Given the description of an element on the screen output the (x, y) to click on. 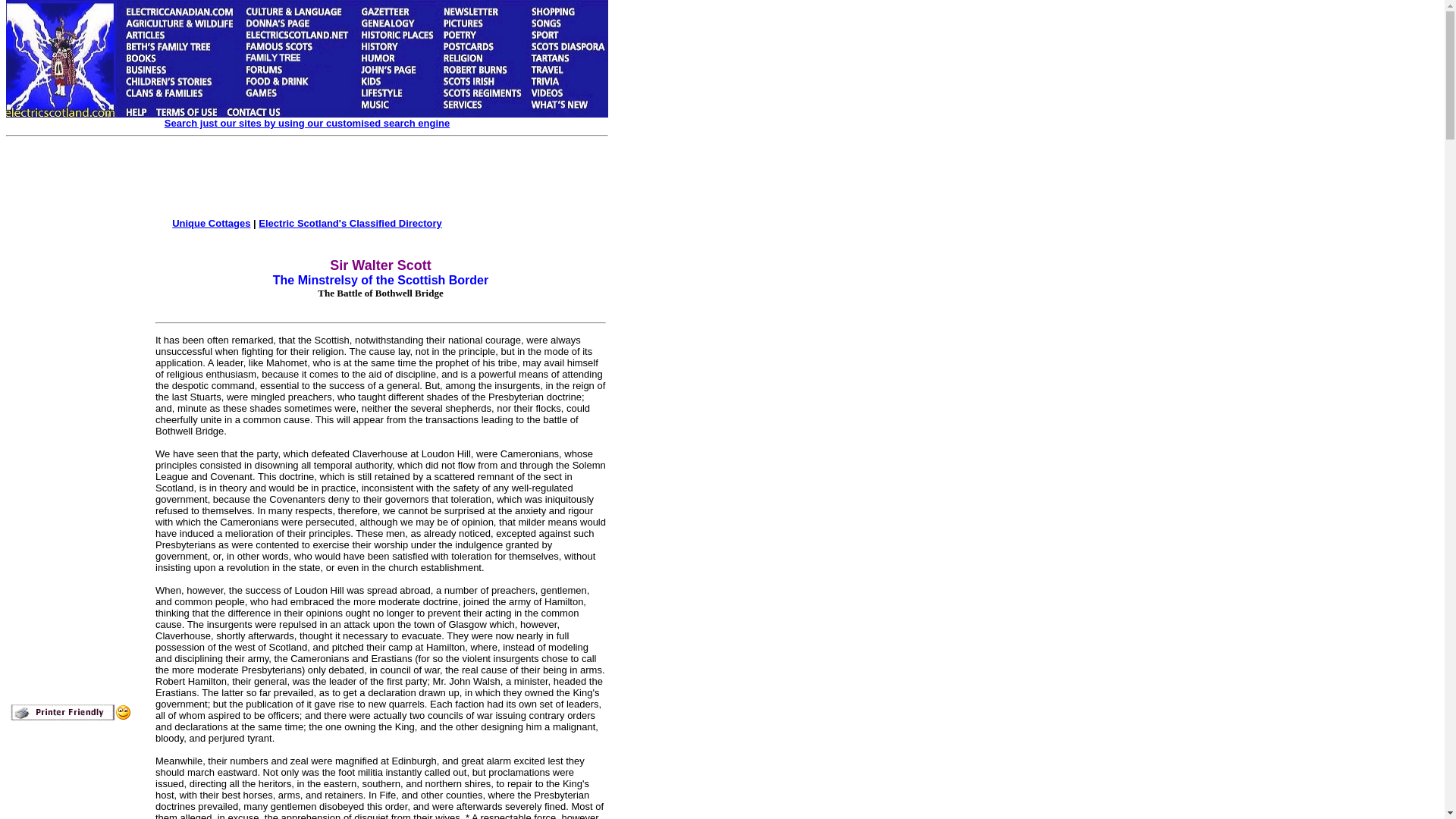
Unique Cottages (210, 223)
Electric Scotland's Classified Directory (350, 223)
Search just our sites by using our customised search engine (306, 122)
advertisement (334, 178)
